Given the description of an element on the screen output the (x, y) to click on. 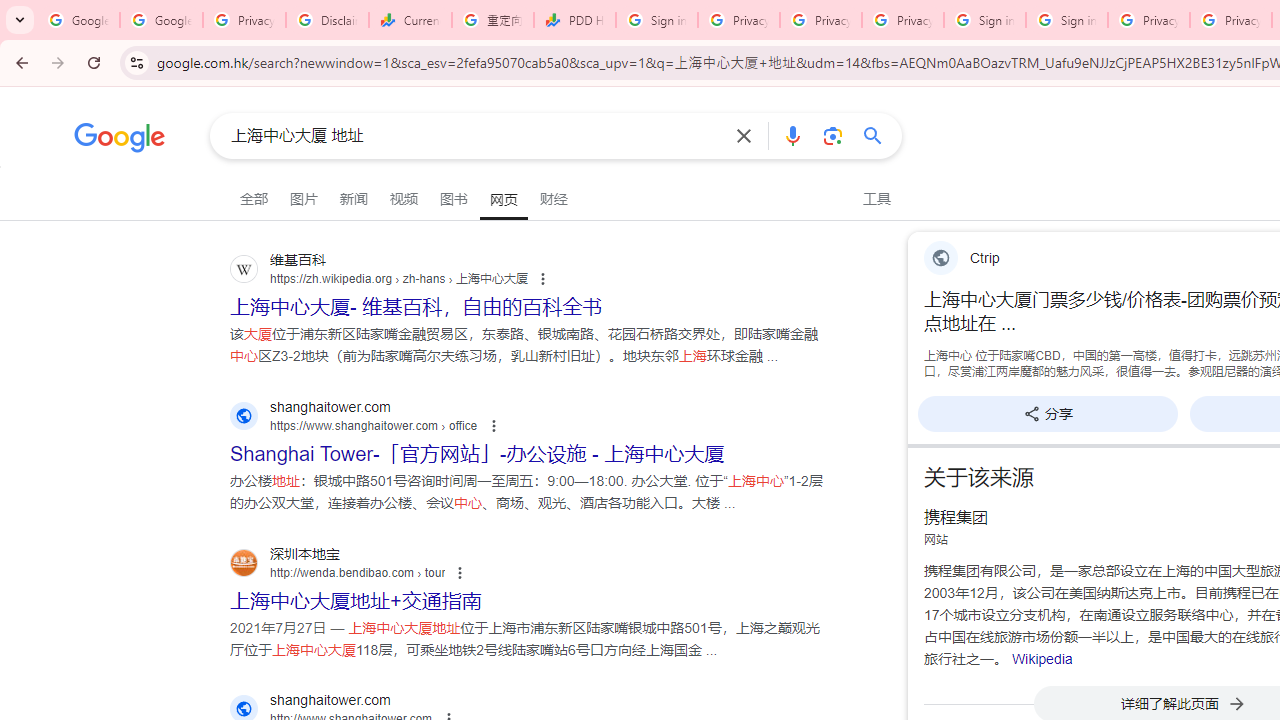
Privacy Checkup (902, 20)
Google Workspace Admin Community (78, 20)
PDD Holdings Inc - ADR (PDD) Price & News - Google Finance (574, 20)
